Given the description of an element on the screen output the (x, y) to click on. 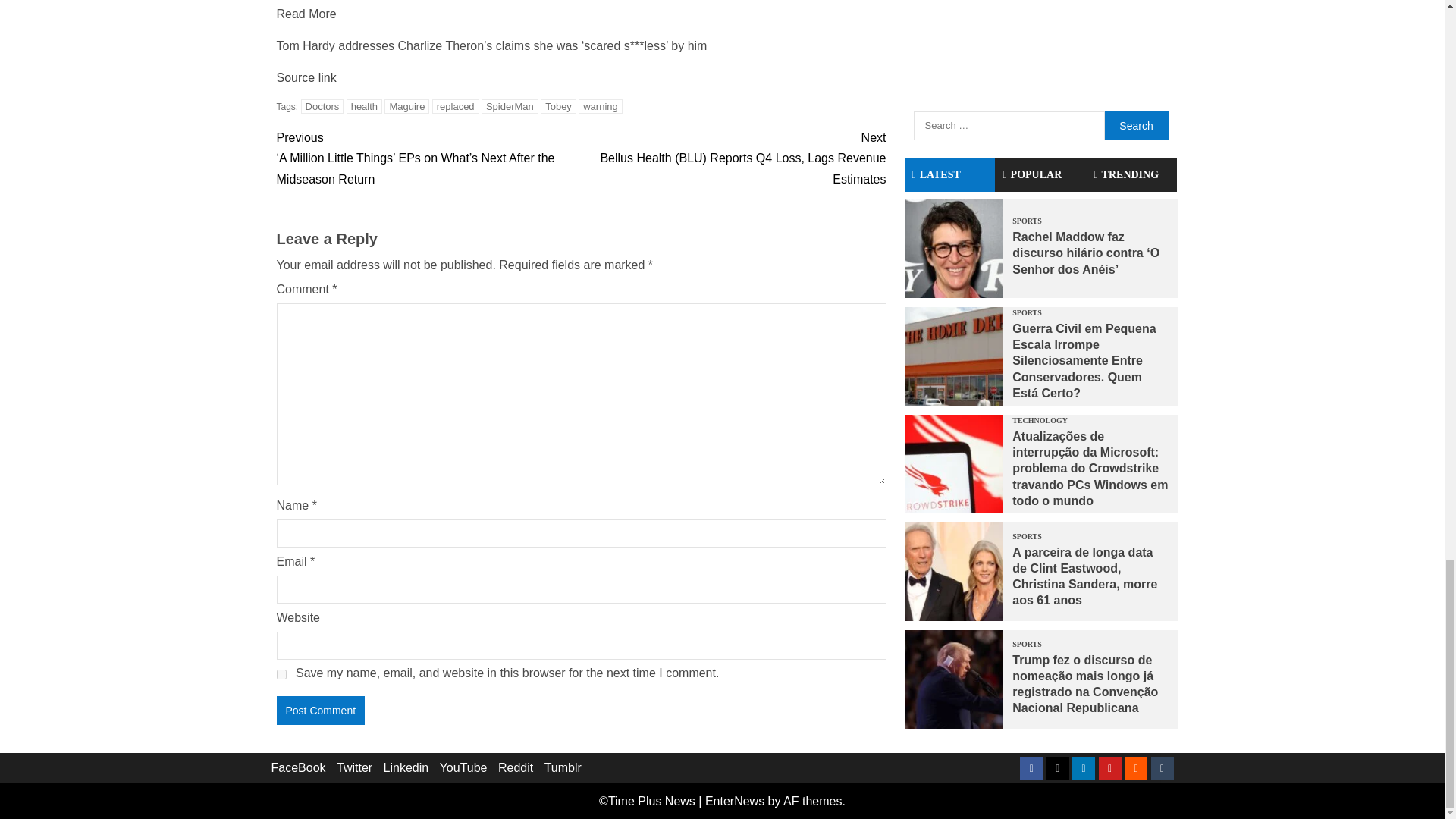
Post Comment (320, 710)
Tobey (558, 106)
replaced (455, 106)
Maguire (406, 106)
Source link (306, 77)
Doctors (322, 106)
SpiderMan (509, 106)
warning (600, 106)
yes (280, 674)
health (363, 106)
